Given the description of an element on the screen output the (x, y) to click on. 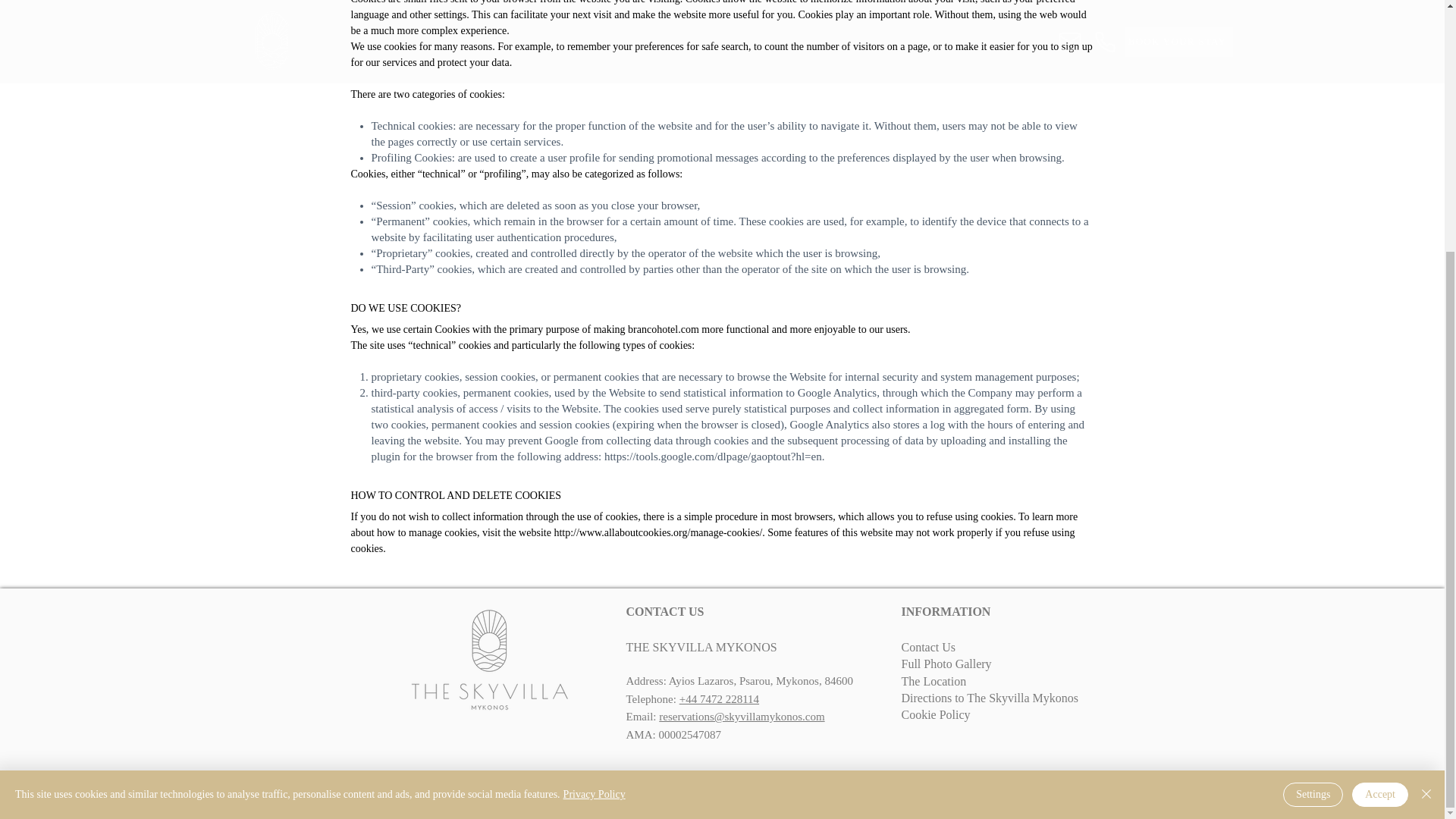
Settings (1312, 439)
Privacy Policy (594, 439)
Accept (1379, 439)
Contact Us (928, 646)
Cookie Policy (935, 714)
The Location (933, 680)
Full Photo Gallery (946, 663)
